Given the description of an element on the screen output the (x, y) to click on. 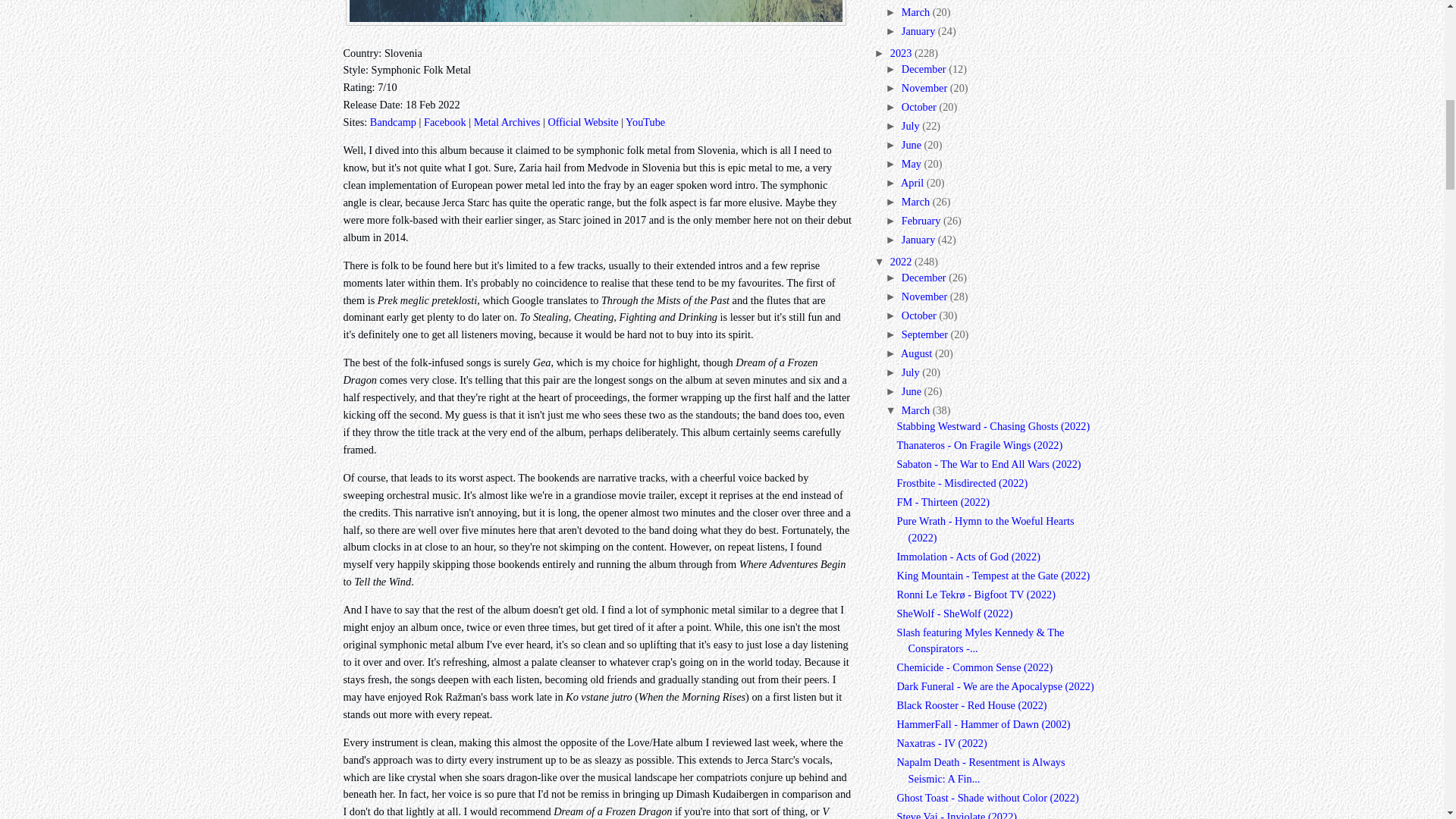
Bandcamp (392, 121)
Facebook (444, 121)
Official Website (582, 121)
YouTube (645, 121)
Metal Archives (507, 121)
